Given the description of an element on the screen output the (x, y) to click on. 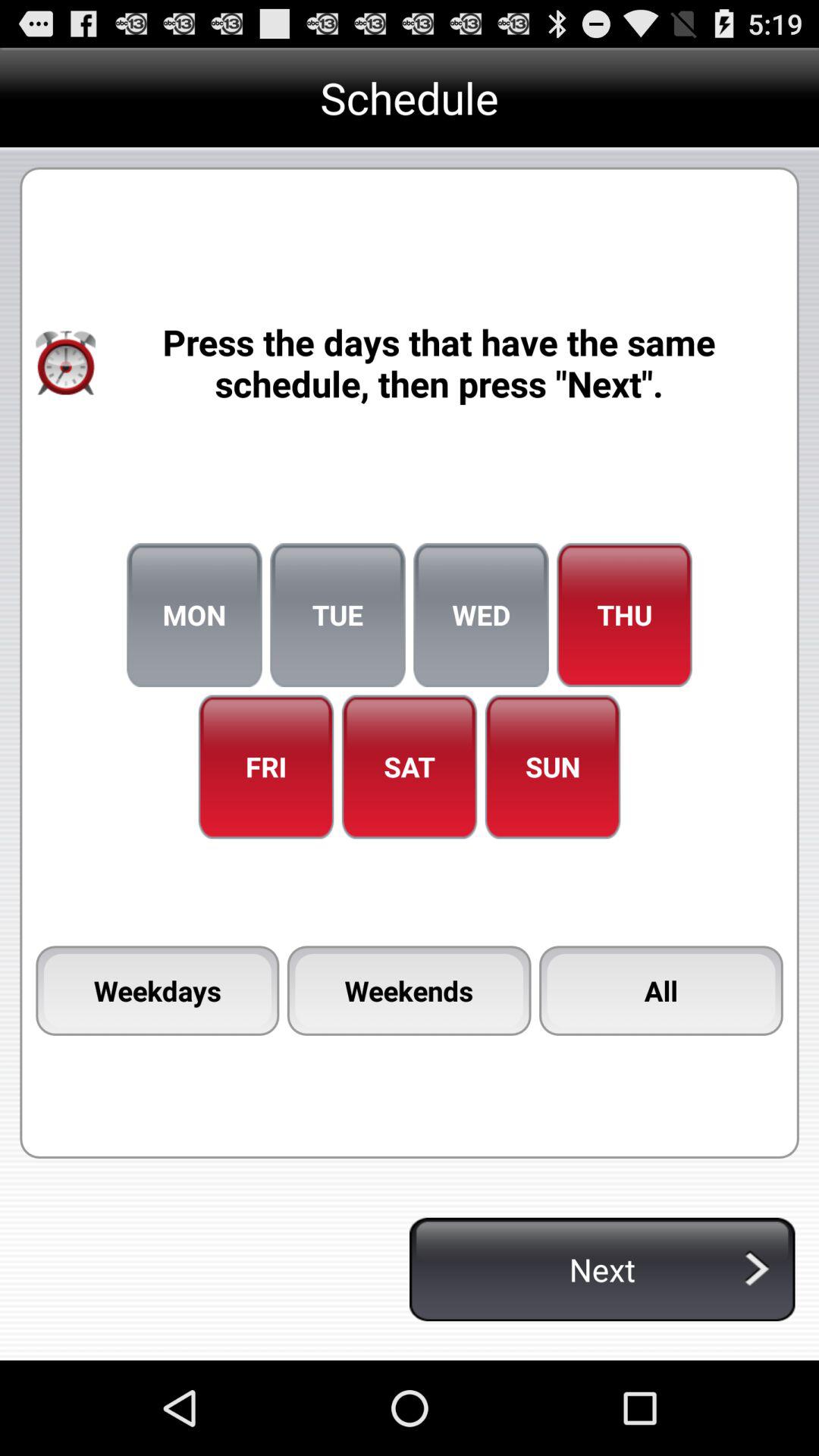
turn off icon below the sun item (661, 990)
